Given the description of an element on the screen output the (x, y) to click on. 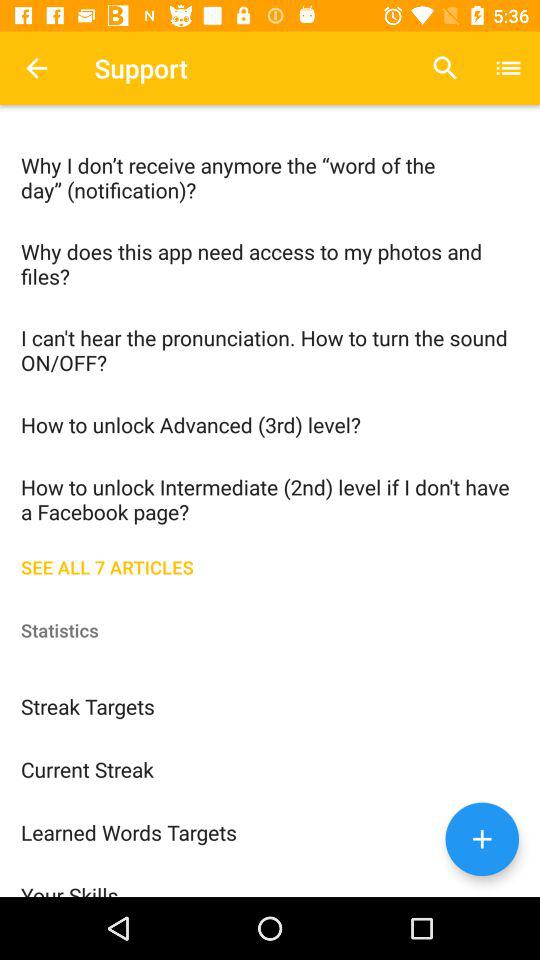
open current streak item (270, 768)
